Given the description of an element on the screen output the (x, y) to click on. 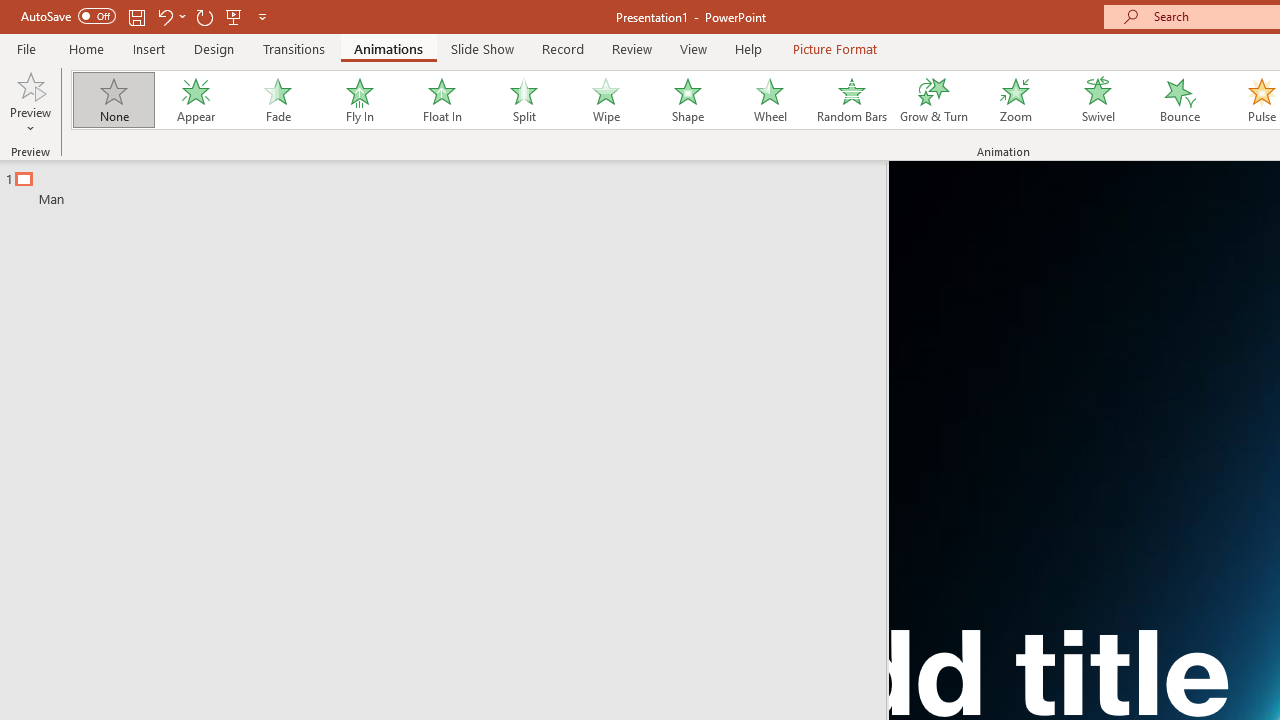
Fly In (359, 100)
Swivel (1098, 100)
